Given the description of an element on the screen output the (x, y) to click on. 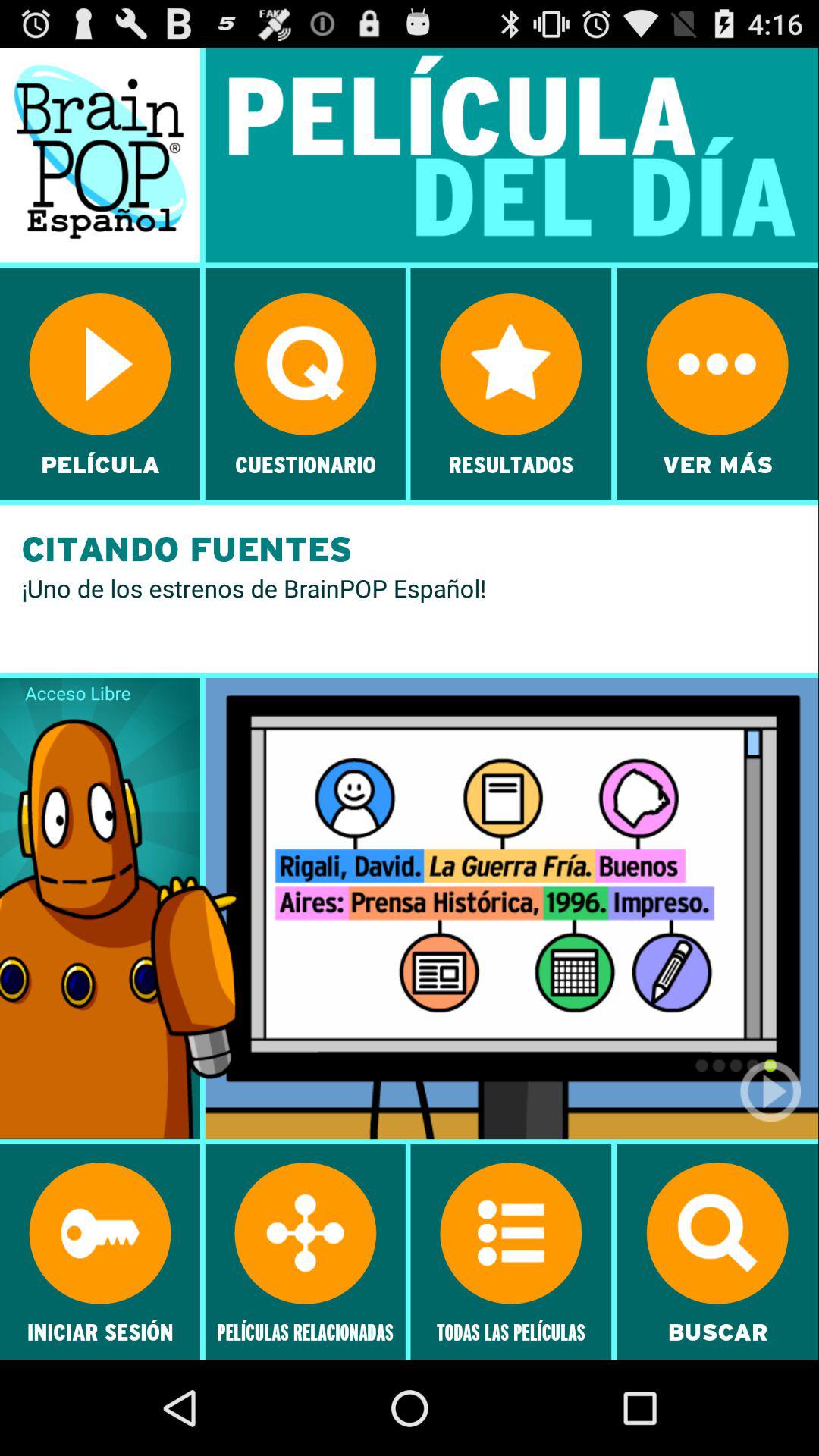
select the text pelicula del dia (511, 155)
select the image which is right to the acceso libre (511, 908)
